Given the description of an element on the screen output the (x, y) to click on. 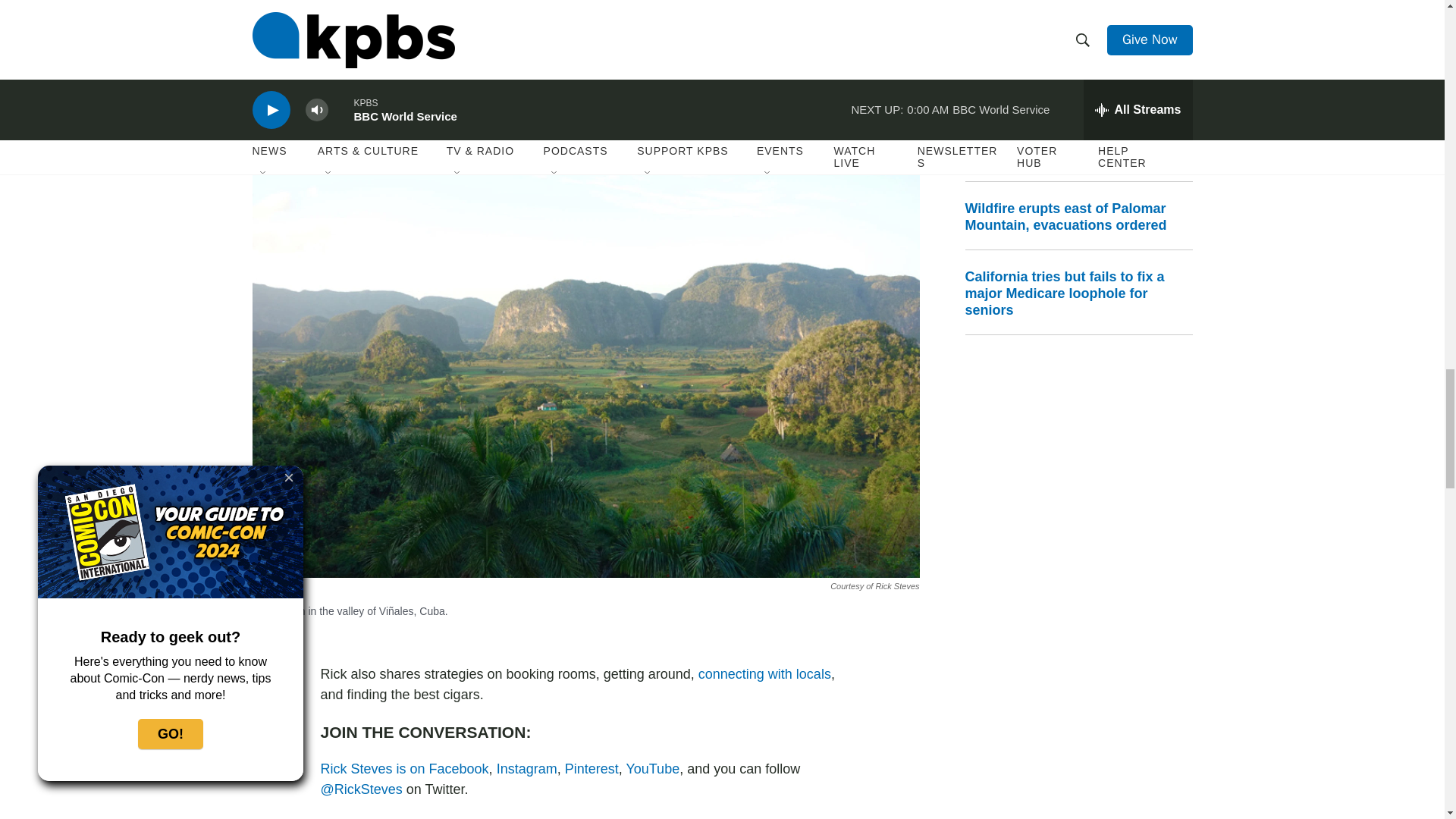
article: (581, 87)
Rick (403, 768)
follow (360, 789)
watch (652, 768)
blog (748, 97)
Photo (570, 67)
Rick (526, 768)
blog (764, 673)
blog (690, 56)
Rick (591, 768)
